Given the description of an element on the screen output the (x, y) to click on. 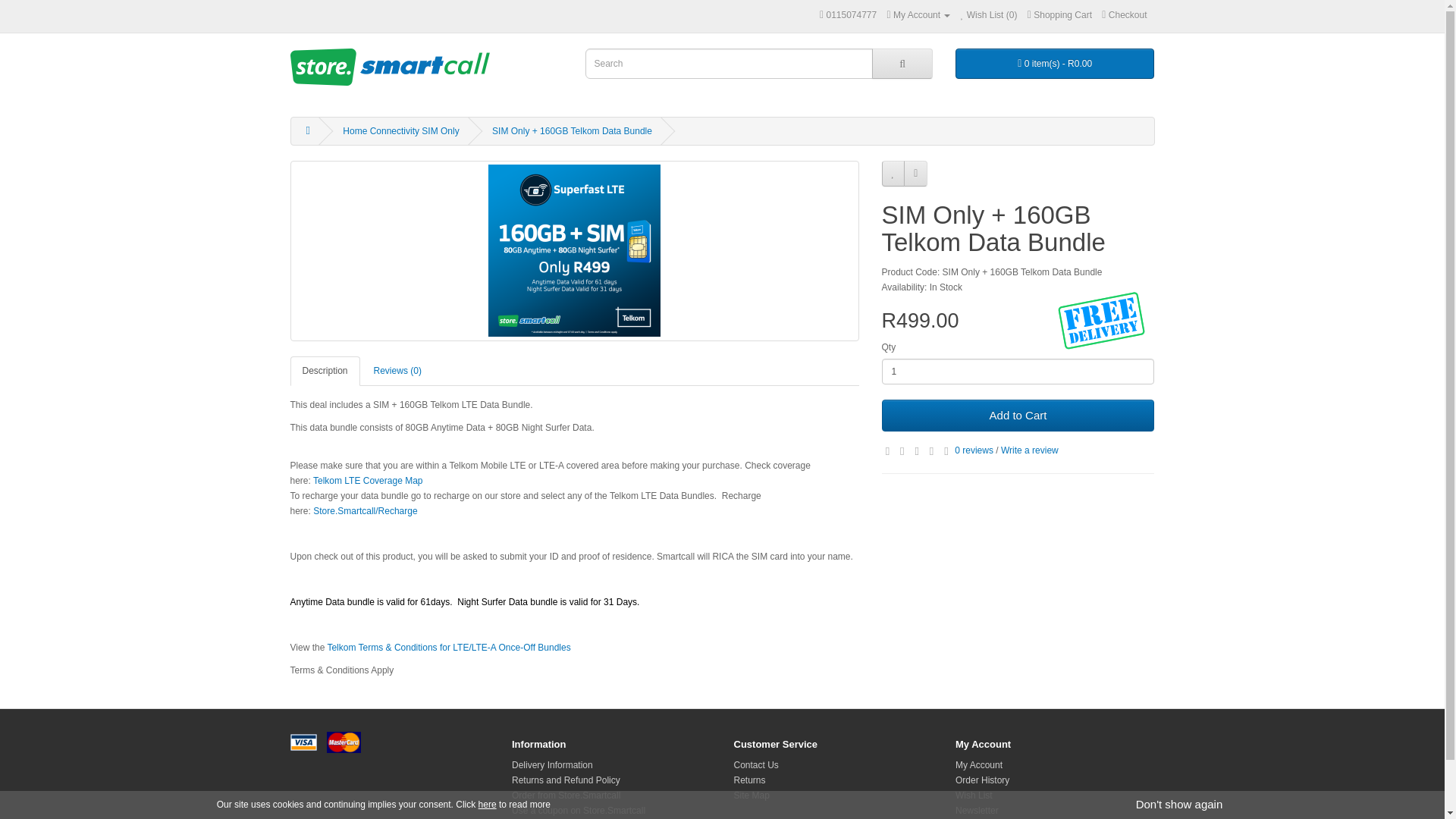
Telkom LTE Coverage Map (368, 480)
Description (324, 370)
0 reviews (973, 450)
My Account (918, 14)
Smartcall Store (389, 71)
My Account (918, 14)
Shopping Cart (1059, 14)
1 (1017, 371)
Add to Cart (1017, 415)
Home Connectivity SIM Only (400, 131)
